Given the description of an element on the screen output the (x, y) to click on. 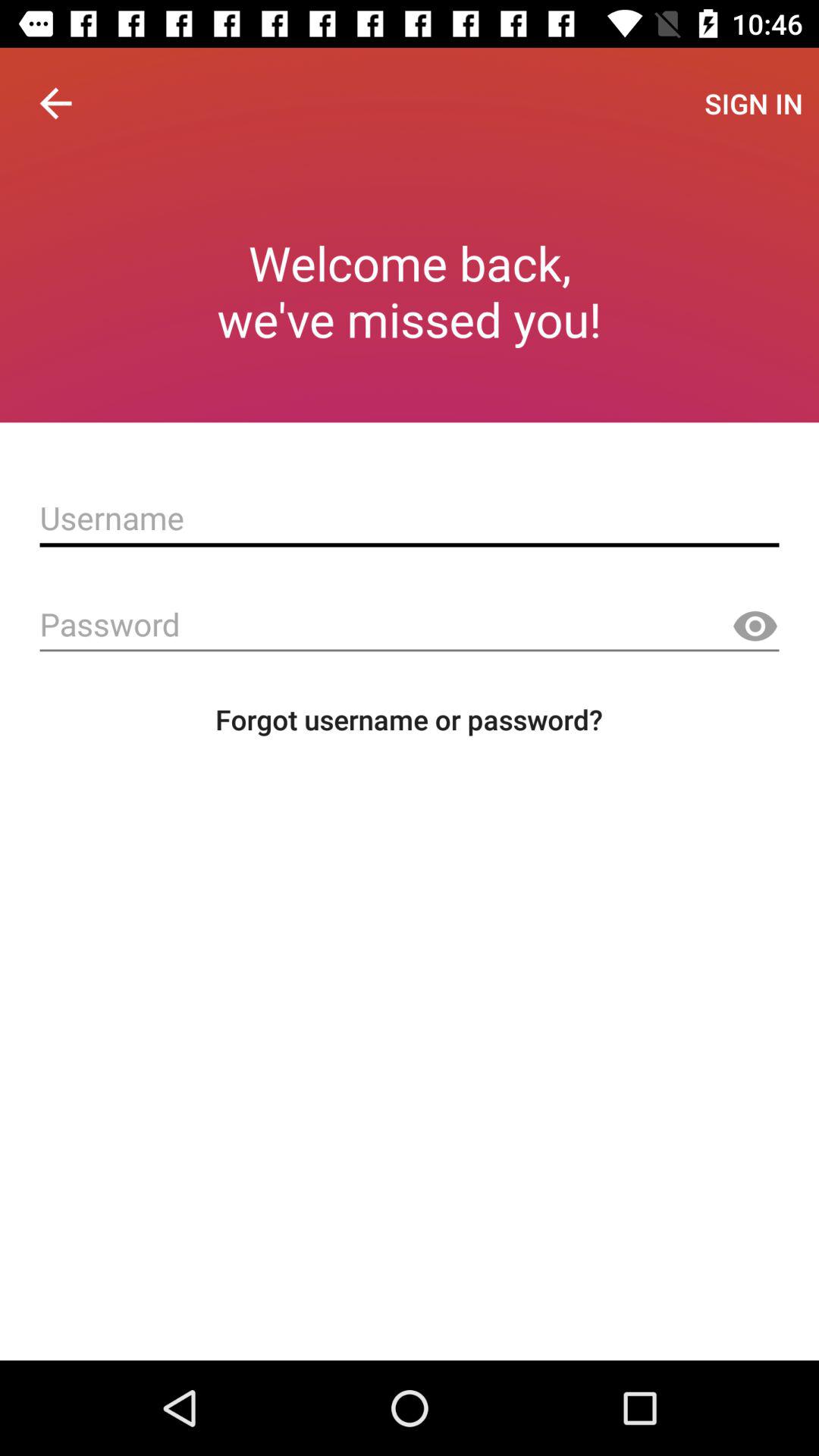
shown veson (755, 626)
